Given the description of an element on the screen output the (x, y) to click on. 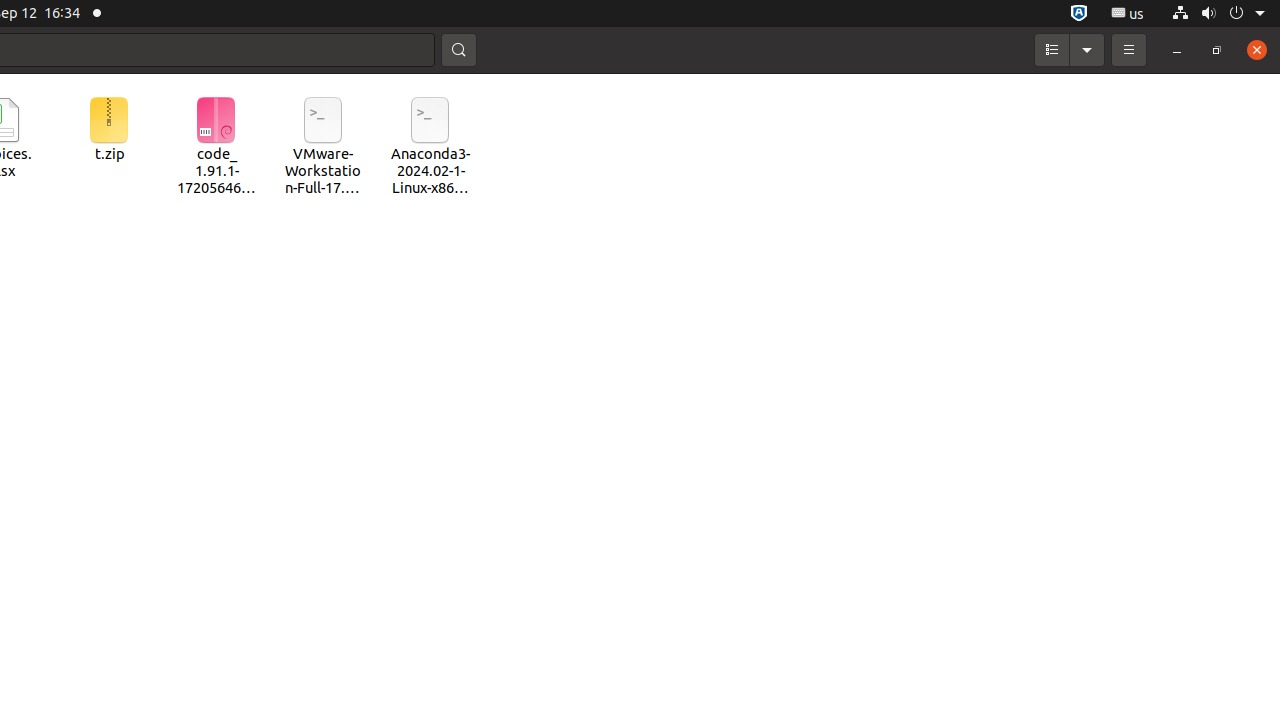
VMware-Workstation-Full-17.5.2-23775571.x86_64.bundle Element type: canvas (323, 147)
Anaconda3-2024.02-1-Linux-x86_64.sh Element type: canvas (430, 147)
t.zip Element type: canvas (108, 130)
